Given the description of an element on the screen output the (x, y) to click on. 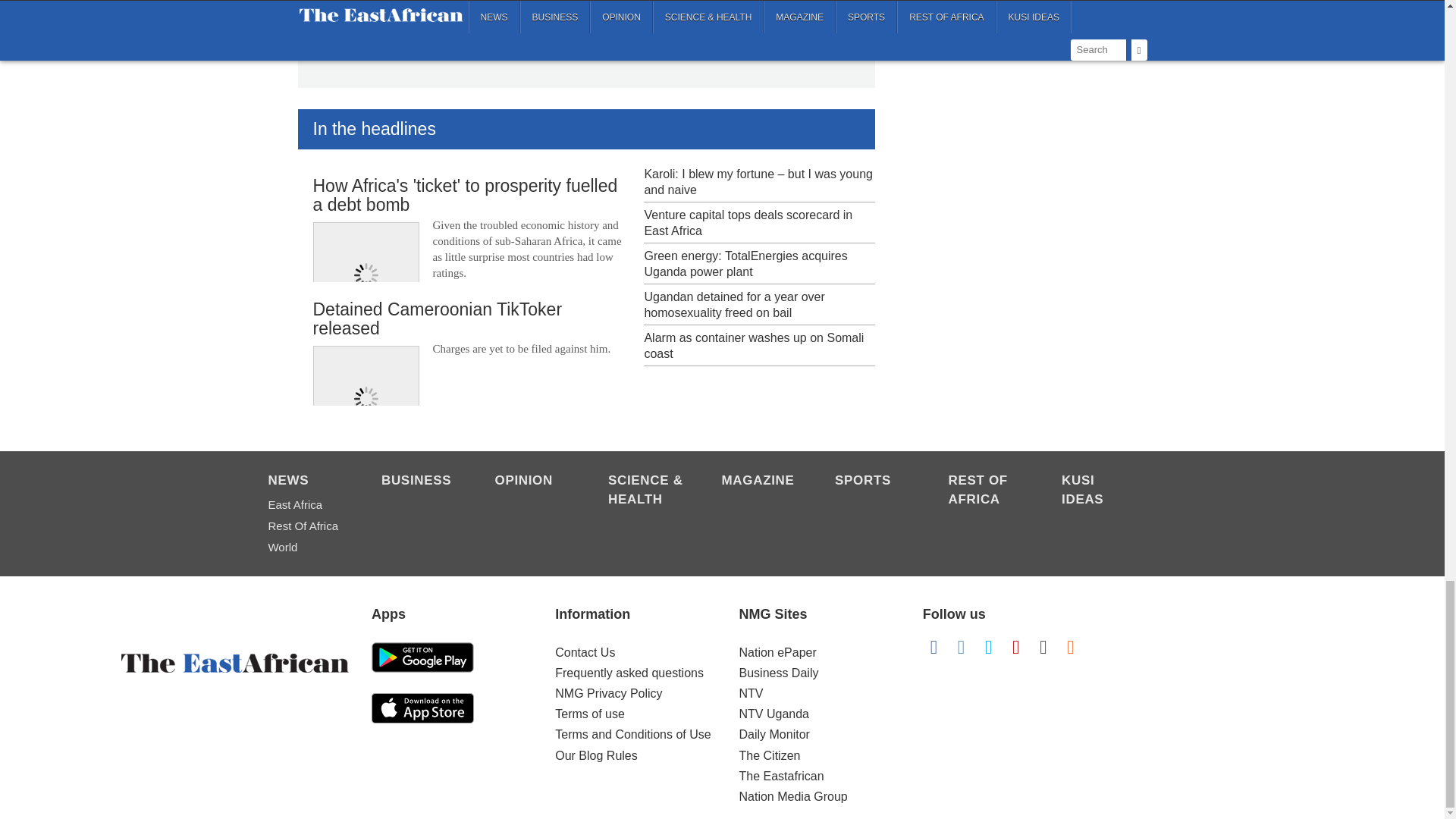
World (306, 547)
News (306, 481)
East Africa (306, 504)
Magazine (760, 481)
NMG Privacy Policy (608, 693)
Rest of Africa (306, 526)
Sports (873, 481)
Terms and Conditions of Use (632, 734)
KUSI IDEAS (1099, 491)
Our Blog Rules (595, 755)
Opinion (533, 481)
Contact Us (584, 652)
Business (419, 481)
Frequently asked questions (628, 672)
Rest of Africa (987, 491)
